Given the description of an element on the screen output the (x, y) to click on. 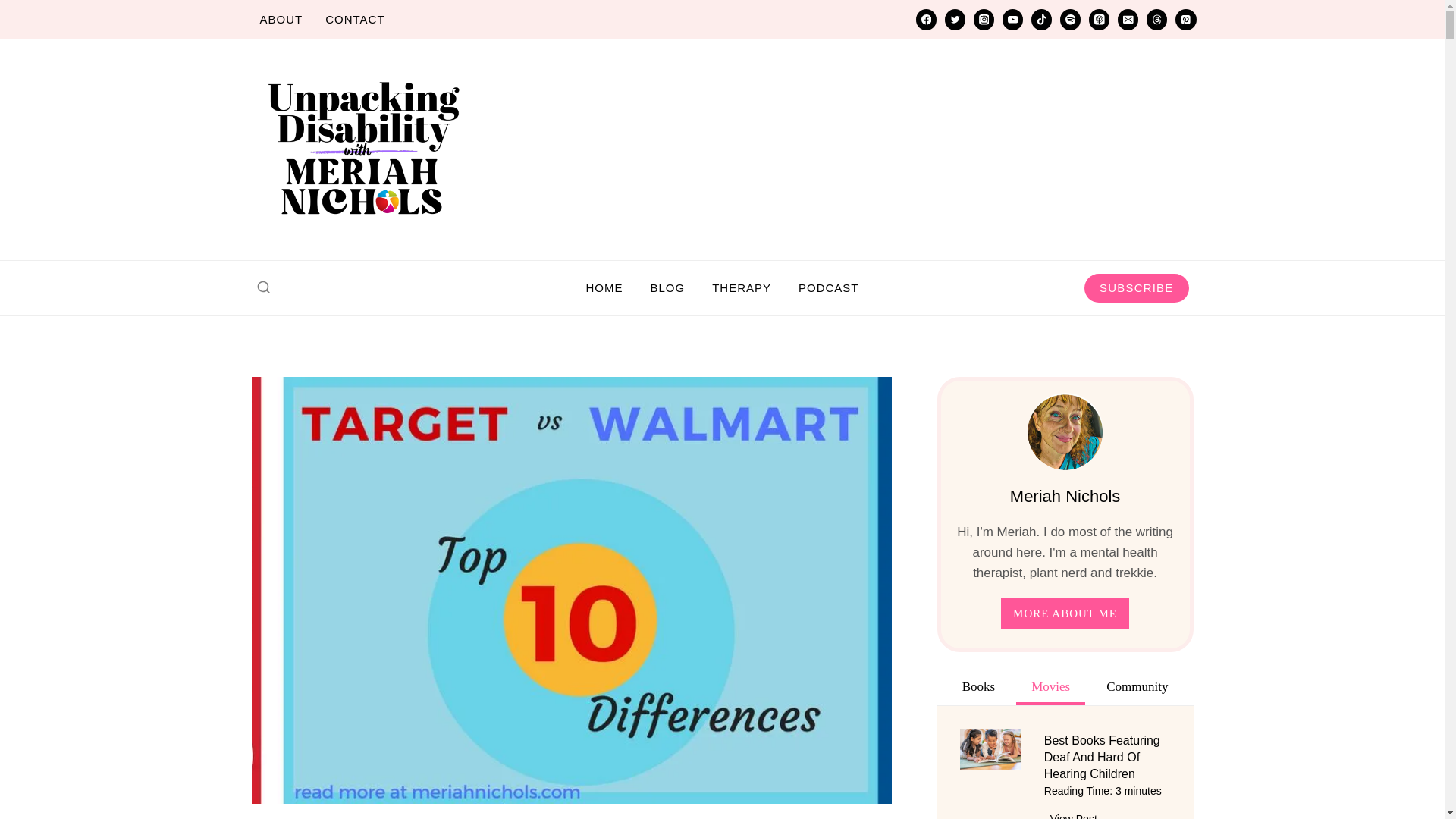
THERAPY (741, 287)
HOME (604, 287)
BLOG (667, 287)
SUBSCRIBE (1136, 287)
CONTACT (355, 20)
PODCAST (828, 287)
ABOUT (281, 20)
